Given the description of an element on the screen output the (x, y) to click on. 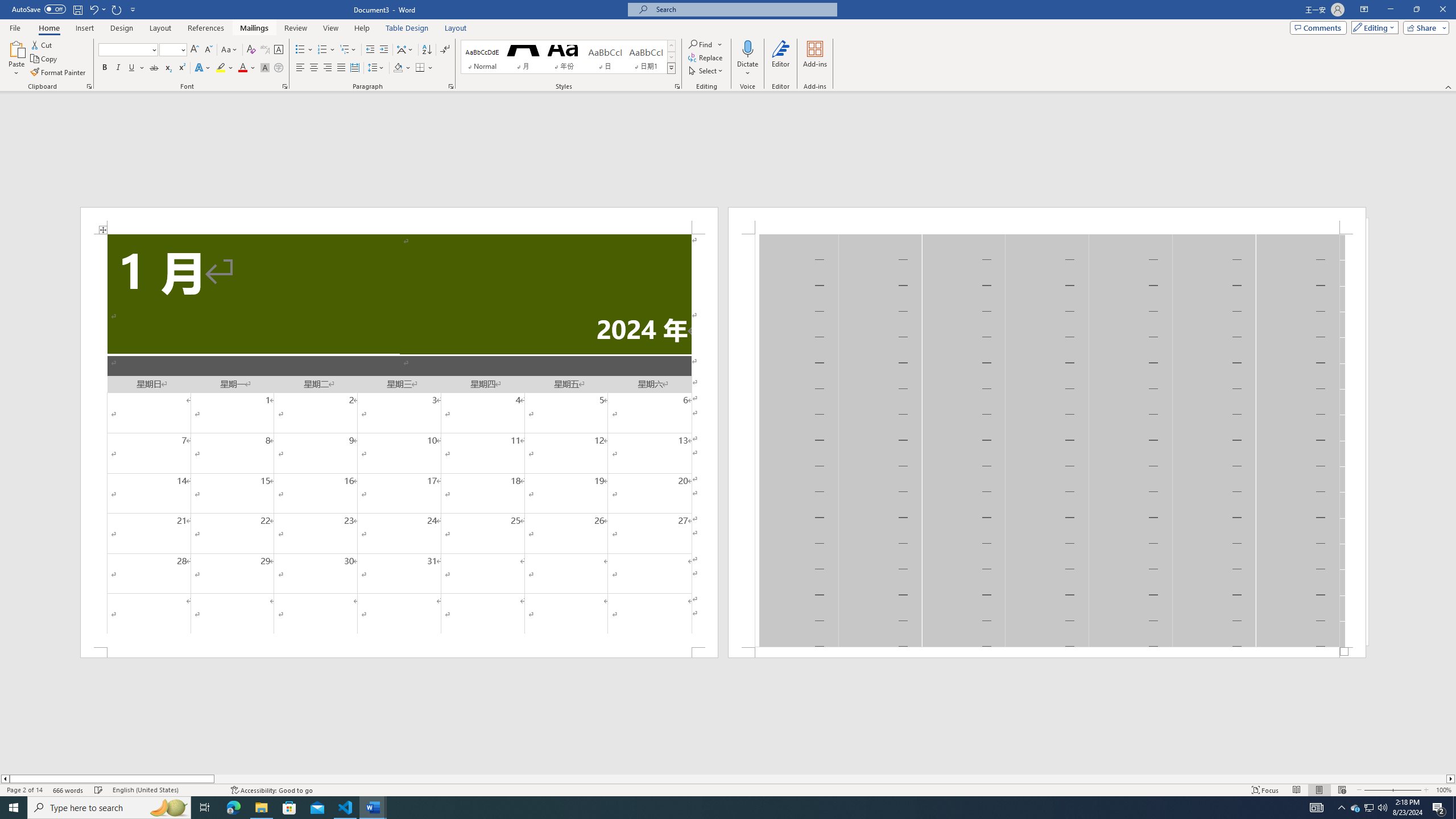
Page 1 content (398, 440)
Page Number Page 2 of 14 (24, 790)
